Given the description of an element on the screen output the (x, y) to click on. 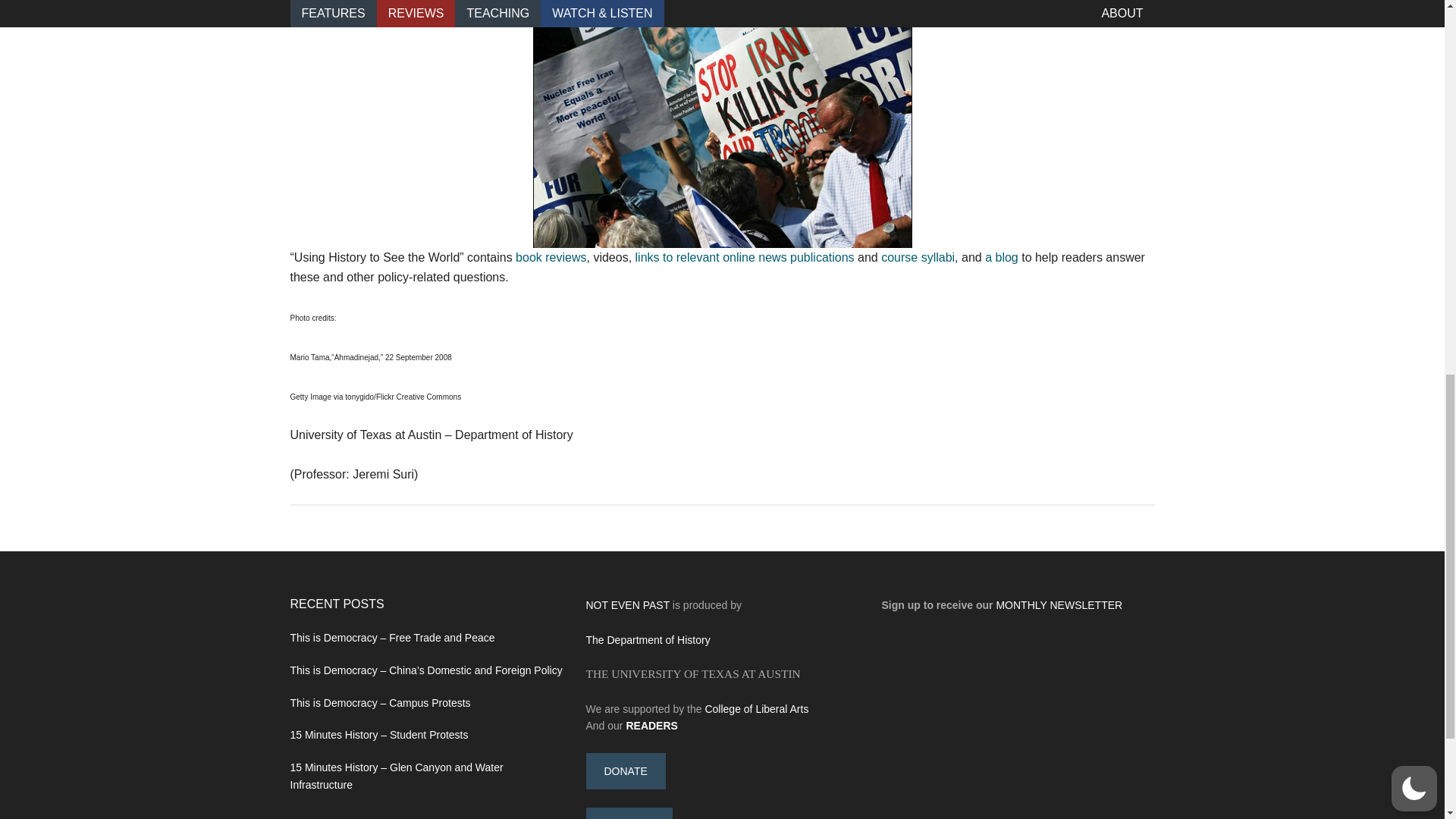
course syllabi (917, 256)
THE UNIVERSITY OF TEXAS AT AUSTIN (692, 673)
DONATE (625, 770)
College of Liberal Arts (756, 707)
CONTACT (628, 813)
book reviews (550, 256)
links to relevant online news publications (744, 256)
a blog (1001, 256)
The Department of History (647, 639)
MONTHLY NEWSLETTER (1058, 604)
